Given the description of an element on the screen output the (x, y) to click on. 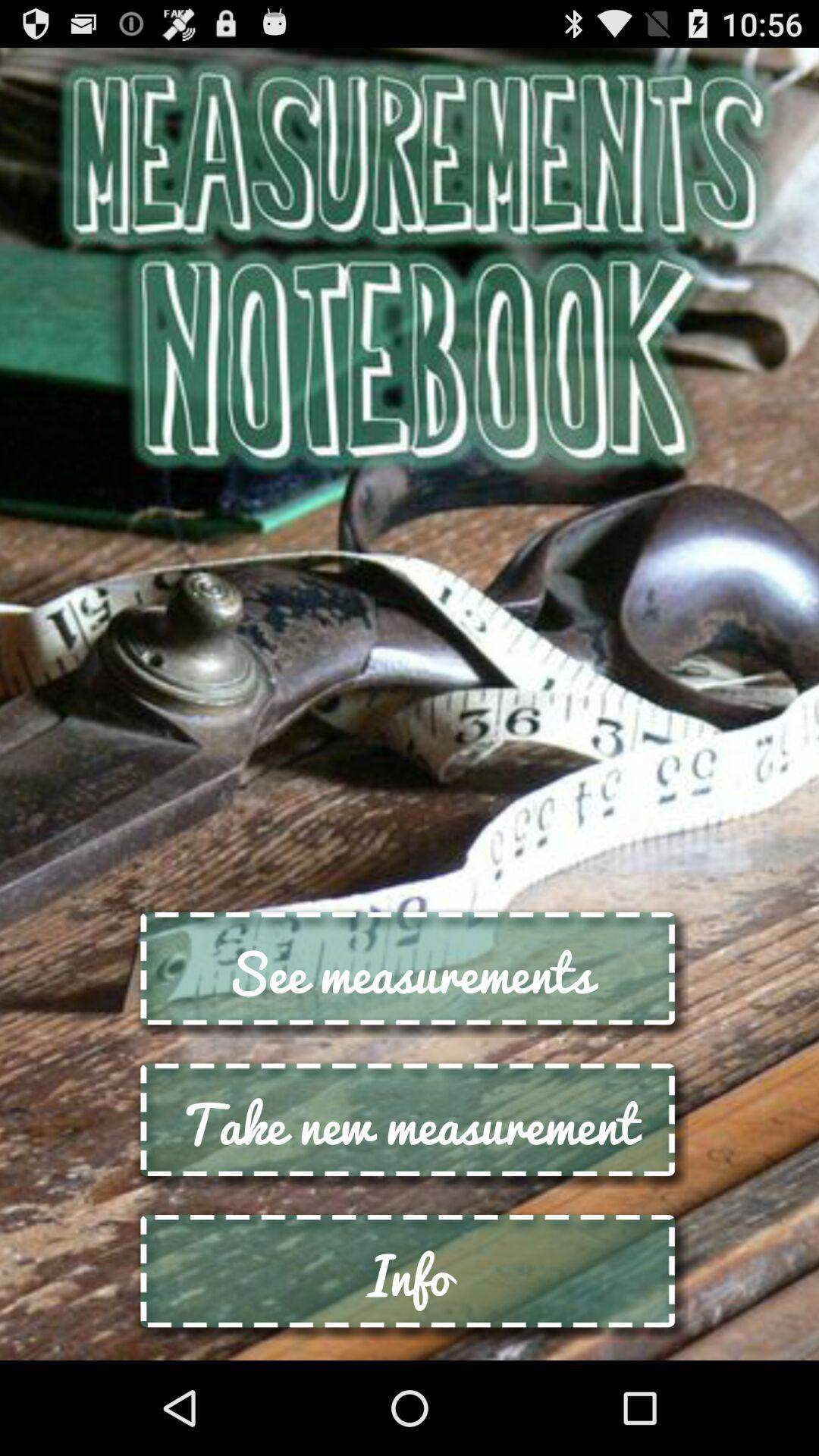
choose the take new measurement (409, 1123)
